Given the description of an element on the screen output the (x, y) to click on. 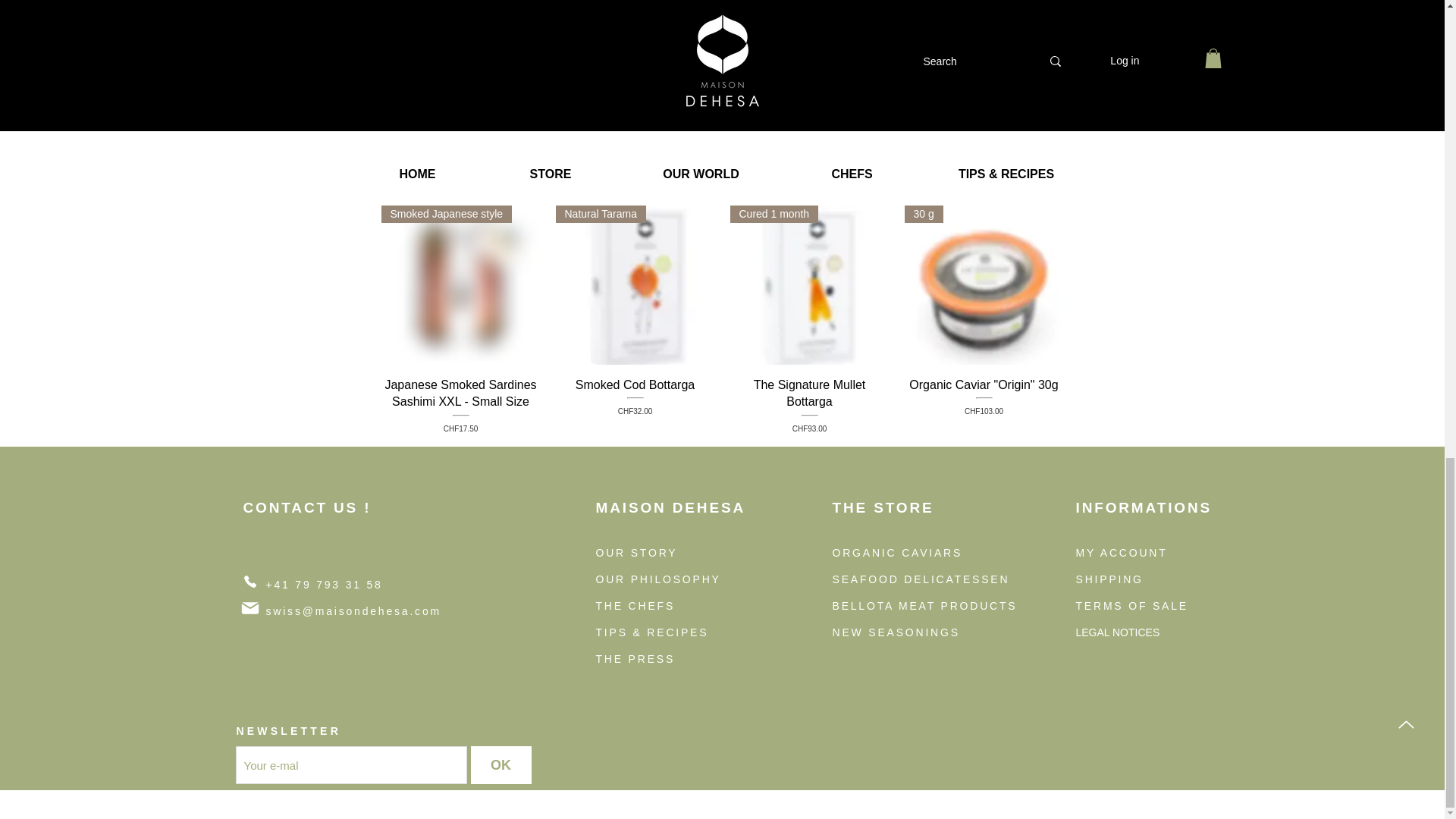
Cured 1 month (808, 284)
Natural Tarama (634, 405)
Smoked Japanese style (634, 284)
30 g (808, 405)
